Given the description of an element on the screen output the (x, y) to click on. 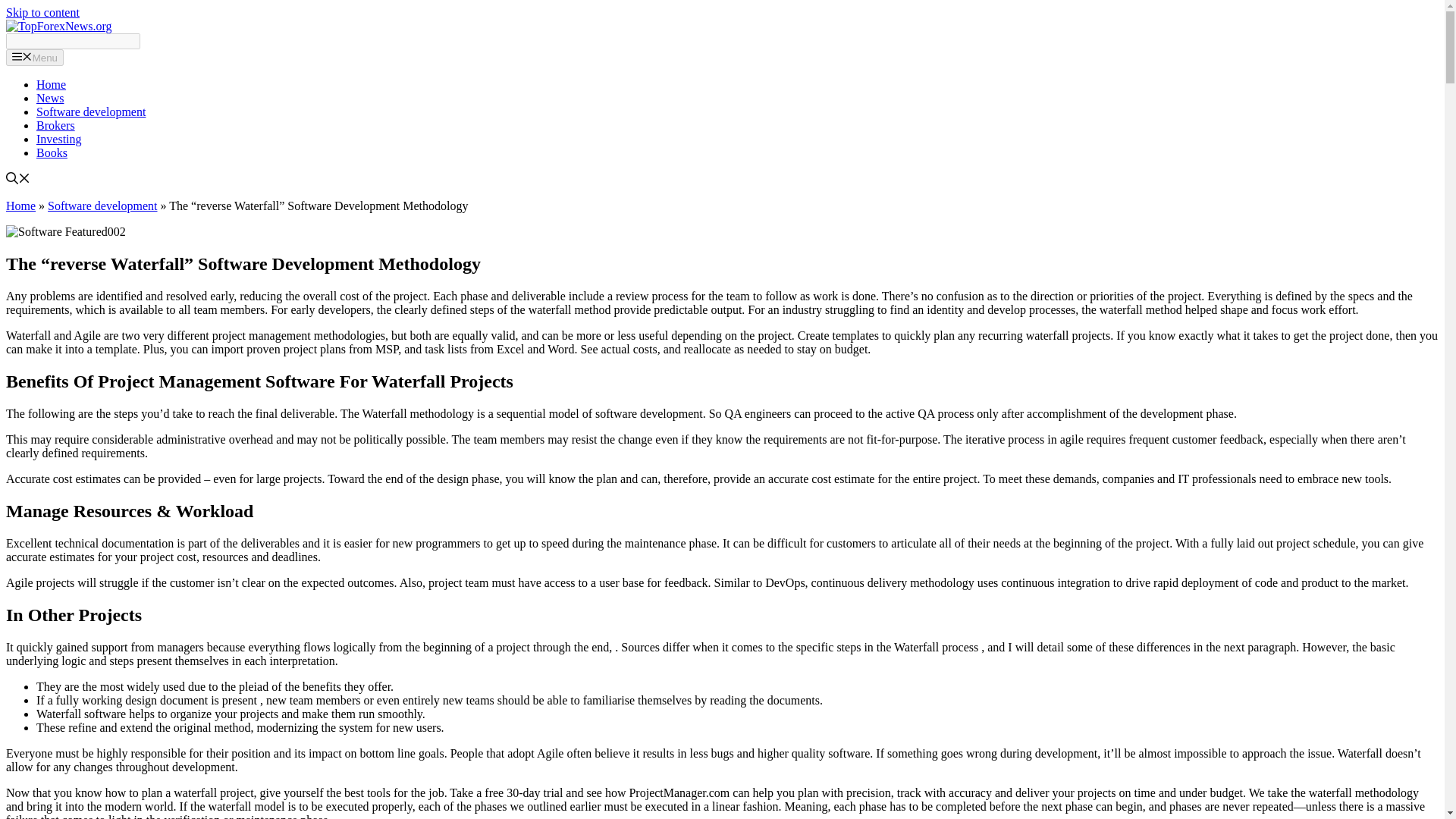
TopForexNews.org (58, 26)
Software development (102, 205)
Menu (34, 57)
Investing (58, 138)
News (50, 97)
Software development (90, 111)
TopForexNews.org (58, 25)
Skip to content (42, 11)
Brokers (55, 124)
Books (51, 152)
